Given the description of an element on the screen output the (x, y) to click on. 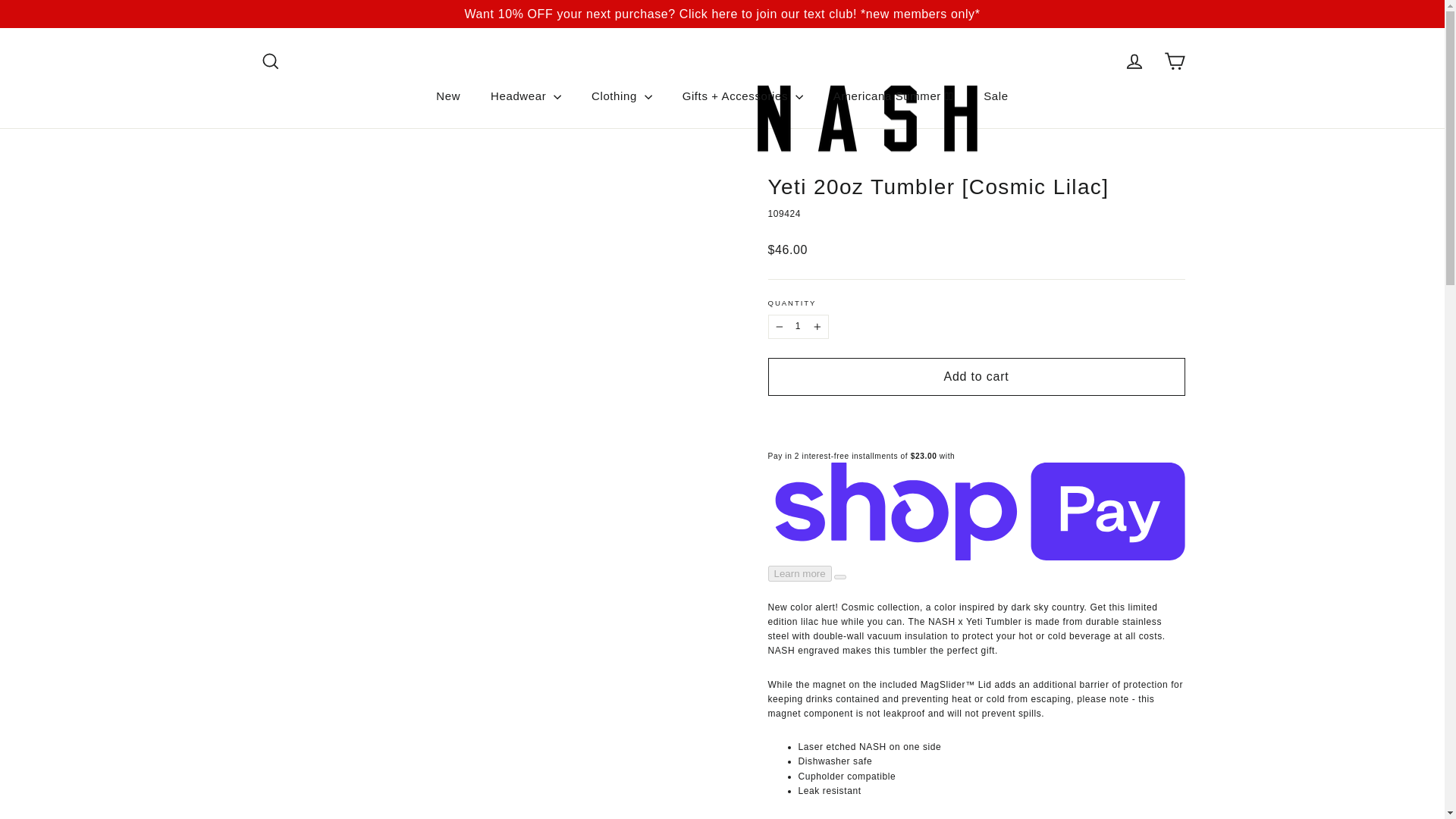
icon-cart (1174, 61)
1 (797, 326)
account (1134, 61)
icon-search (270, 61)
